Given the description of an element on the screen output the (x, y) to click on. 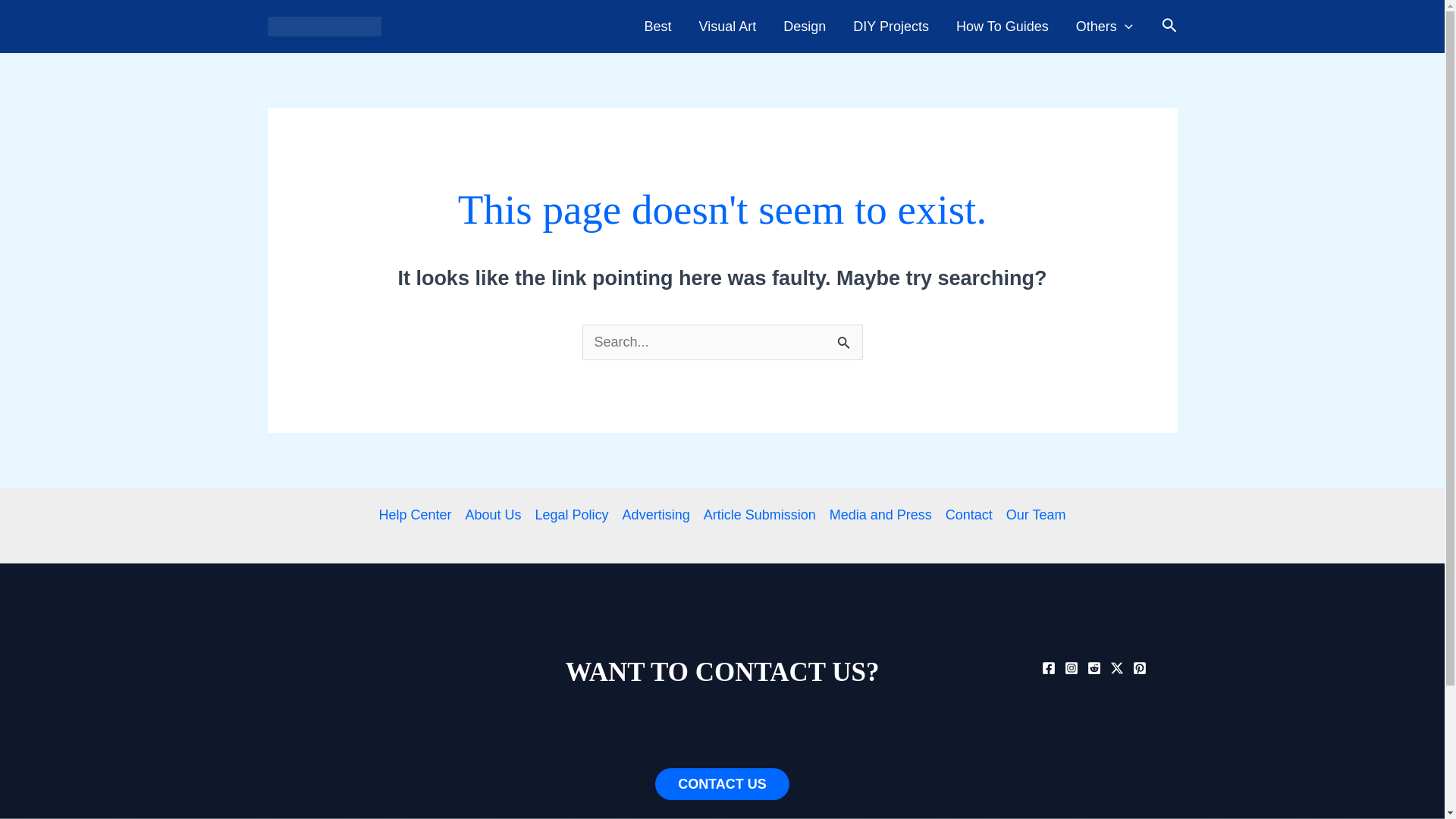
Advertising (656, 514)
Media and Press (880, 514)
Search (844, 340)
About Us (492, 514)
Contact (968, 514)
CONTACT US (722, 784)
Design (805, 26)
Legal Policy (571, 514)
Help Center (418, 514)
Search (844, 340)
